Given the description of an element on the screen output the (x, y) to click on. 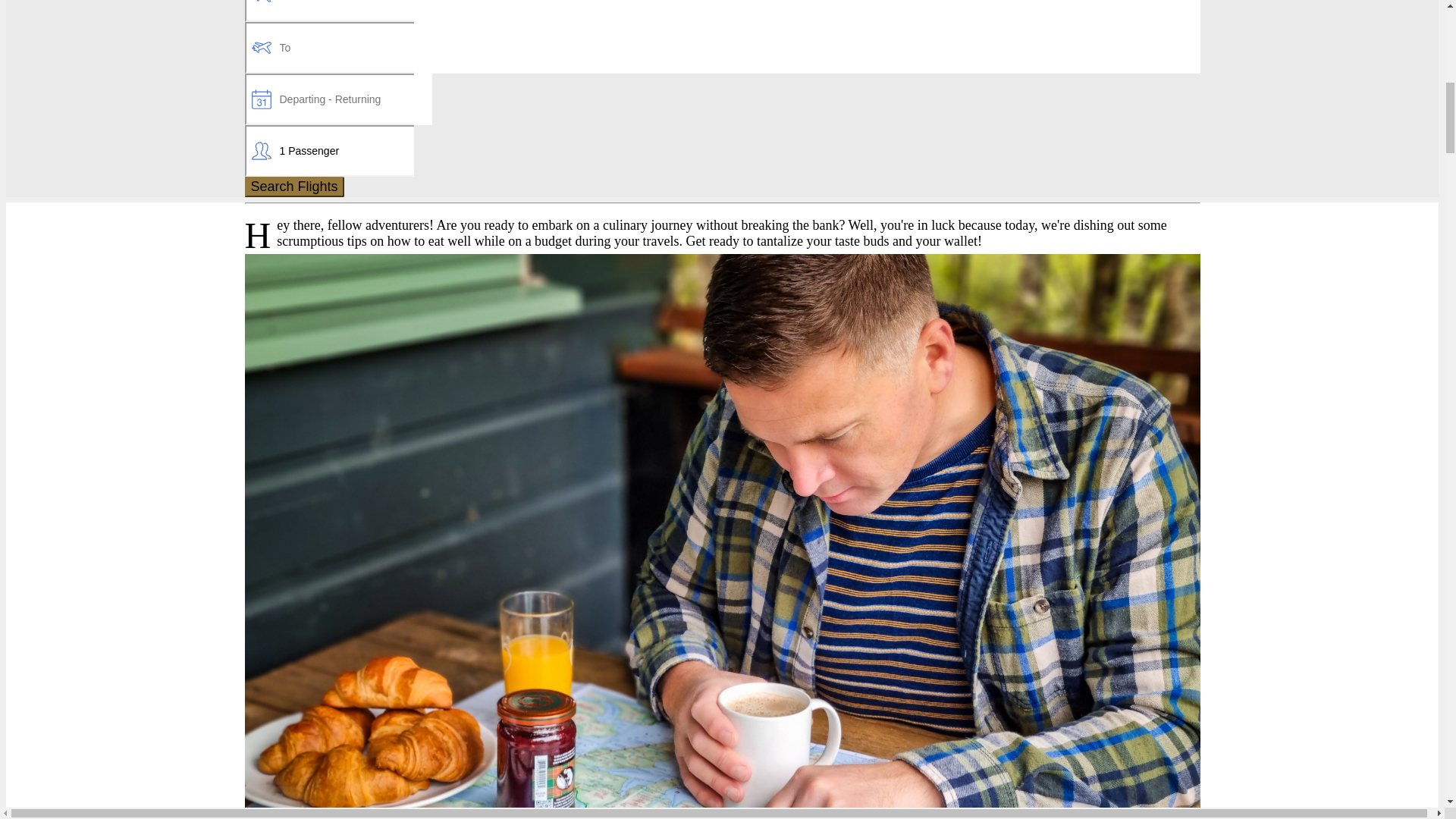
1 Passenger (328, 150)
Search Flights (293, 186)
